Given the description of an element on the screen output the (x, y) to click on. 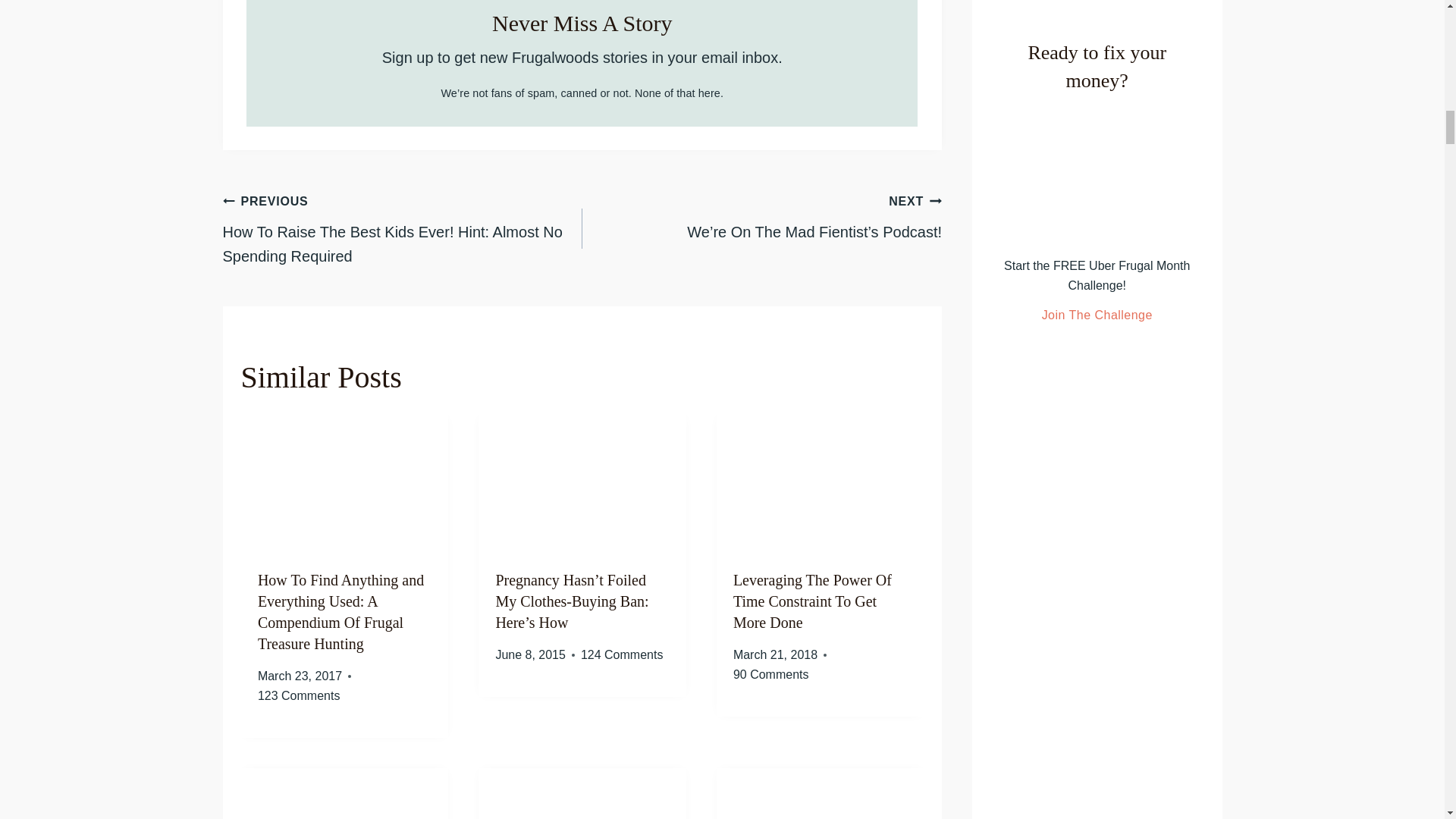
123 Comments (298, 695)
124 Comments (621, 655)
124 Comments (621, 655)
Leveraging The Power Of Time Constraint To Get More Done (812, 600)
123 Comments (298, 695)
90 Comments (771, 674)
90 Comments (771, 674)
